Given the description of an element on the screen output the (x, y) to click on. 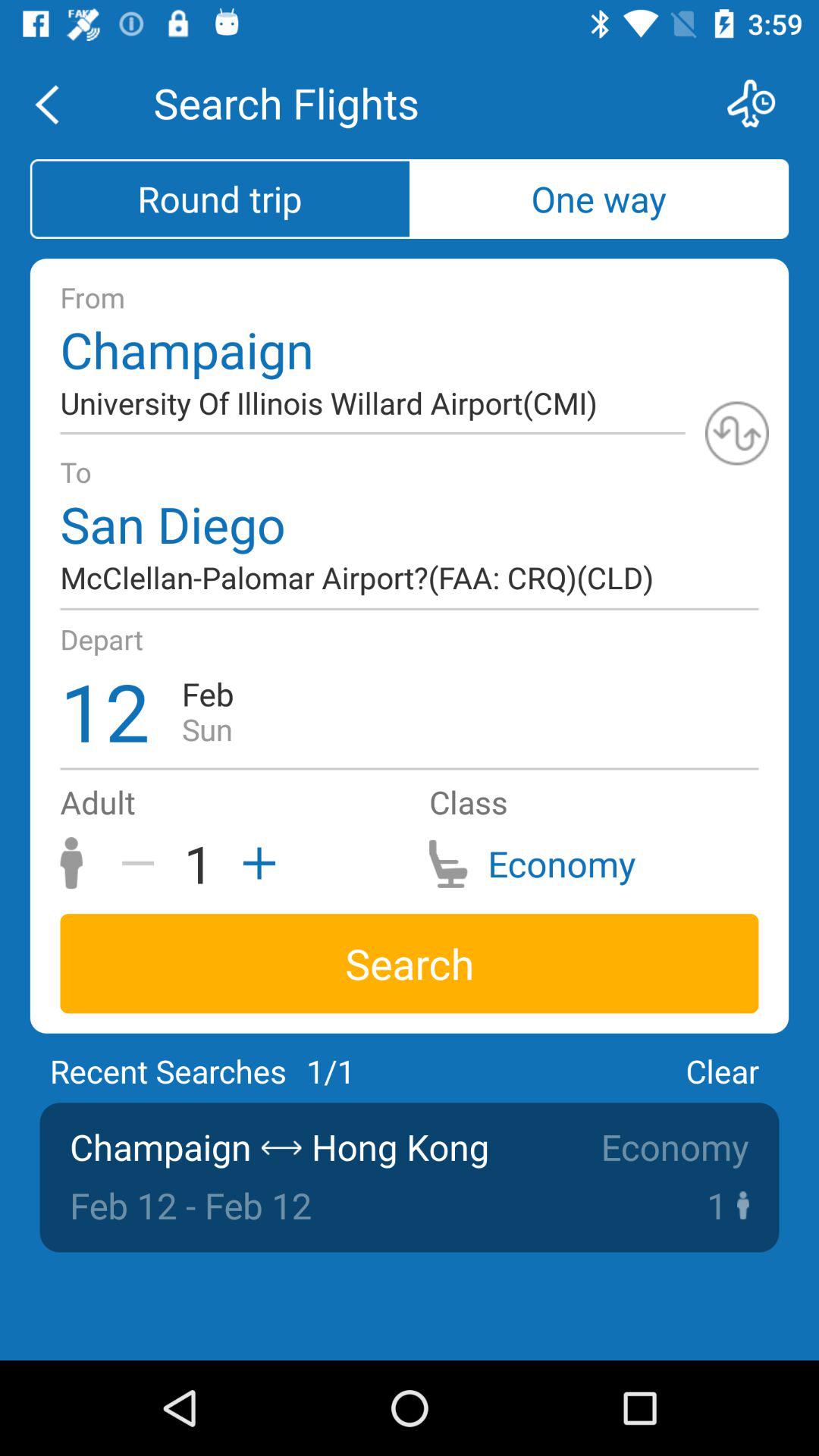
turn on item next to 1 icon (143, 863)
